Given the description of an element on the screen output the (x, y) to click on. 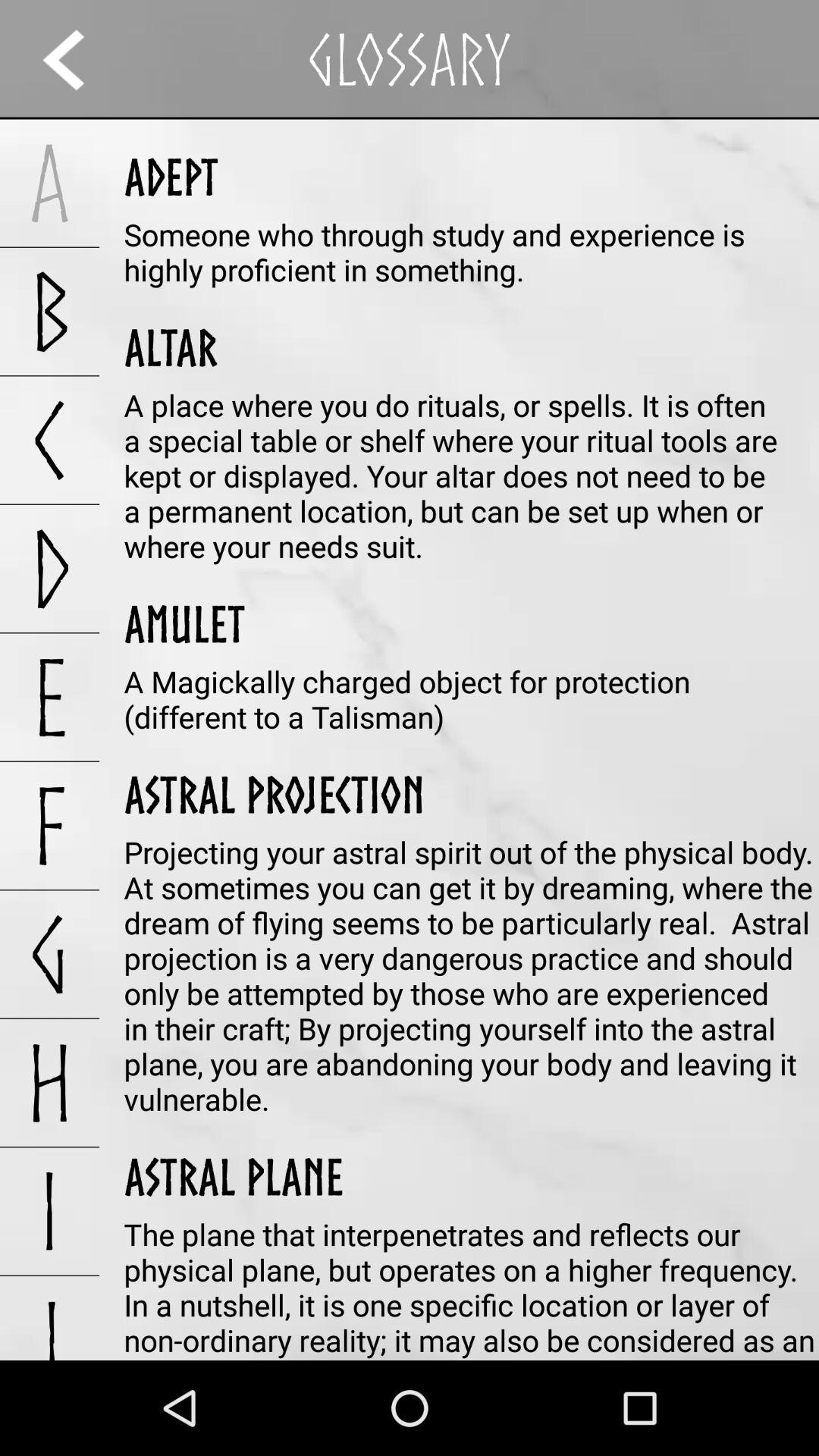
scroll until h app (49, 1082)
